Given the description of an element on the screen output the (x, y) to click on. 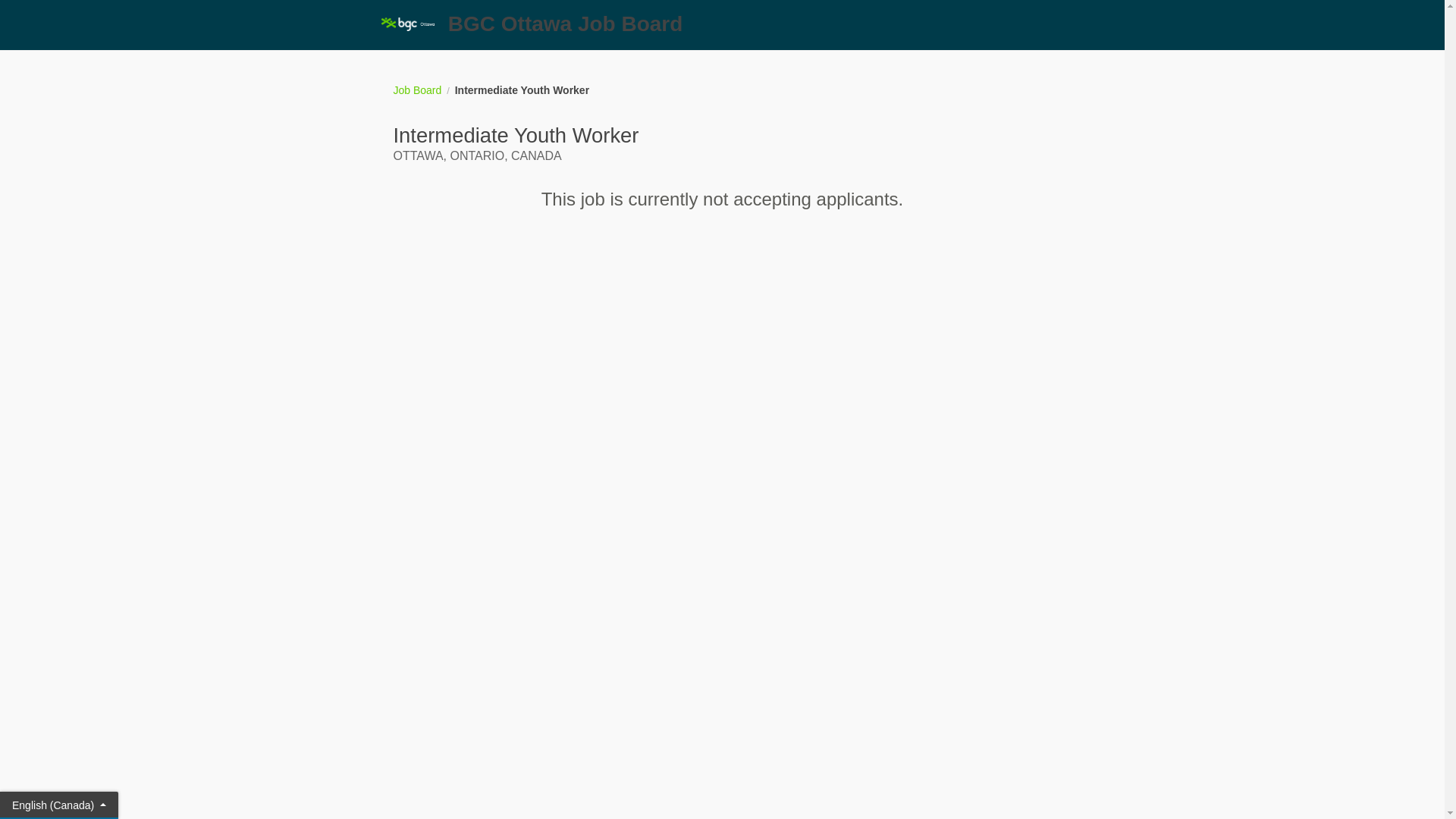
Job Board Element type: text (416, 89)
BGC Ottawa Job Board Element type: text (722, 23)
